Given the description of an element on the screen output the (x, y) to click on. 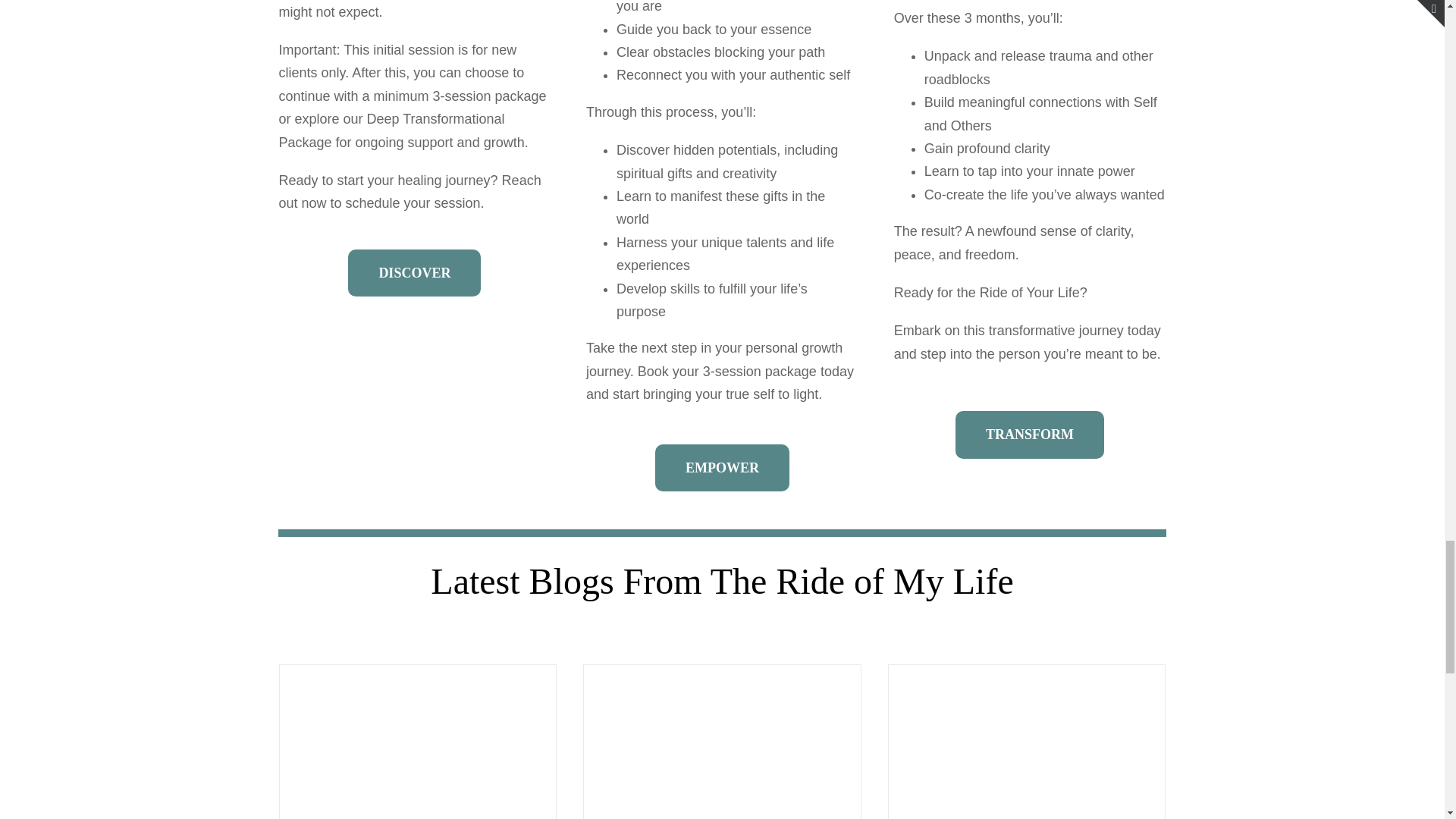
TRANSFORM (1029, 434)
DISCOVER (413, 273)
EMPOWER (722, 468)
